Given the description of an element on the screen output the (x, y) to click on. 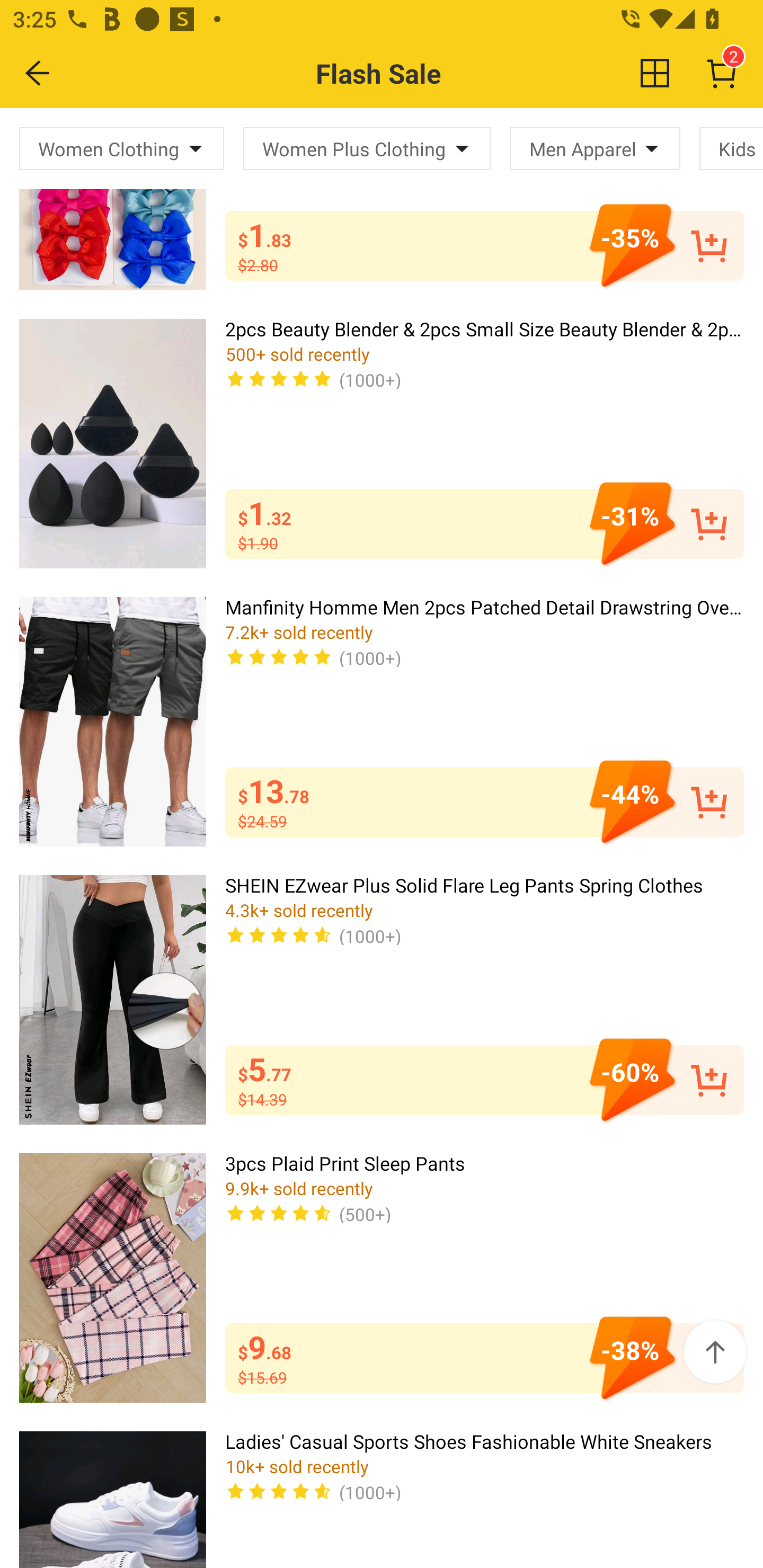
Flash Sale change view 2 (419, 72)
2 (721, 72)
change view (654, 72)
BACK (38, 72)
16pcs Toddler Girls Bow Knot Hair Clip (112, 199)
Women Clothing (121, 148)
Women Plus Clothing (366, 148)
Men Apparel (594, 148)
3pcs Plaid Print Sleep Pants (112, 1277)
